Given the description of an element on the screen output the (x, y) to click on. 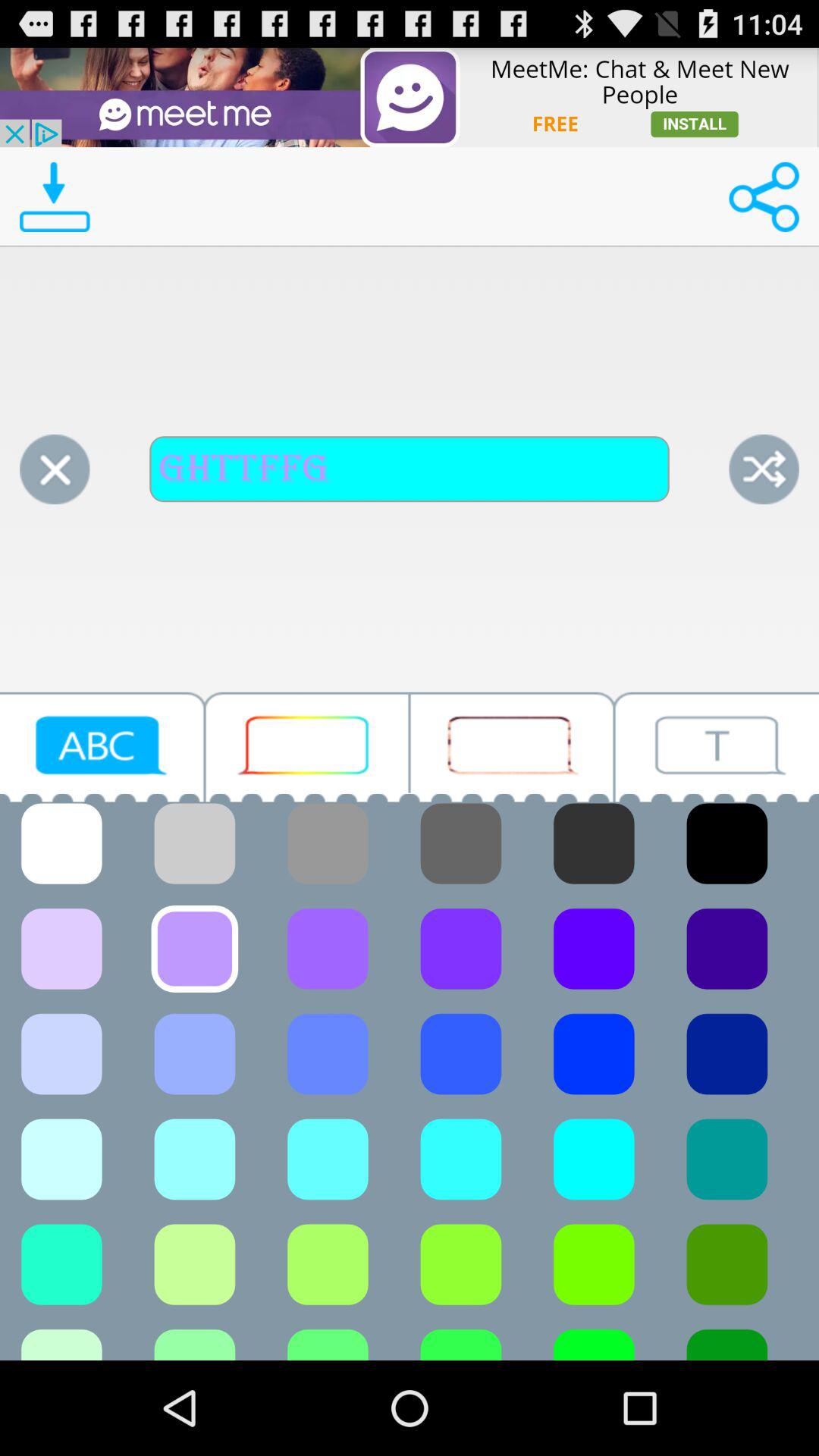
clear button (54, 469)
